Given the description of an element on the screen output the (x, y) to click on. 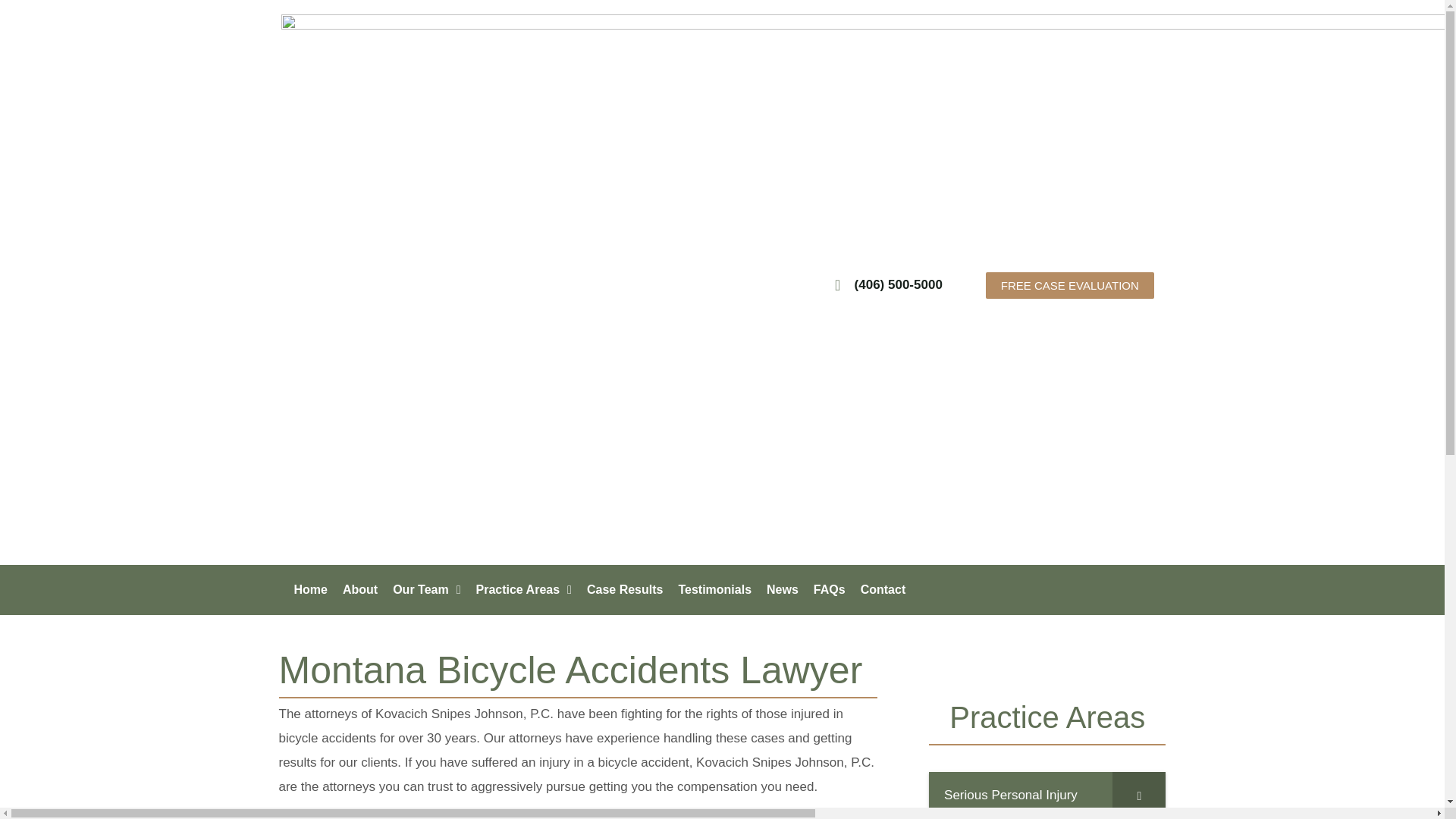
FREE CASE EVALUATION (1069, 284)
